Given the description of an element on the screen output the (x, y) to click on. 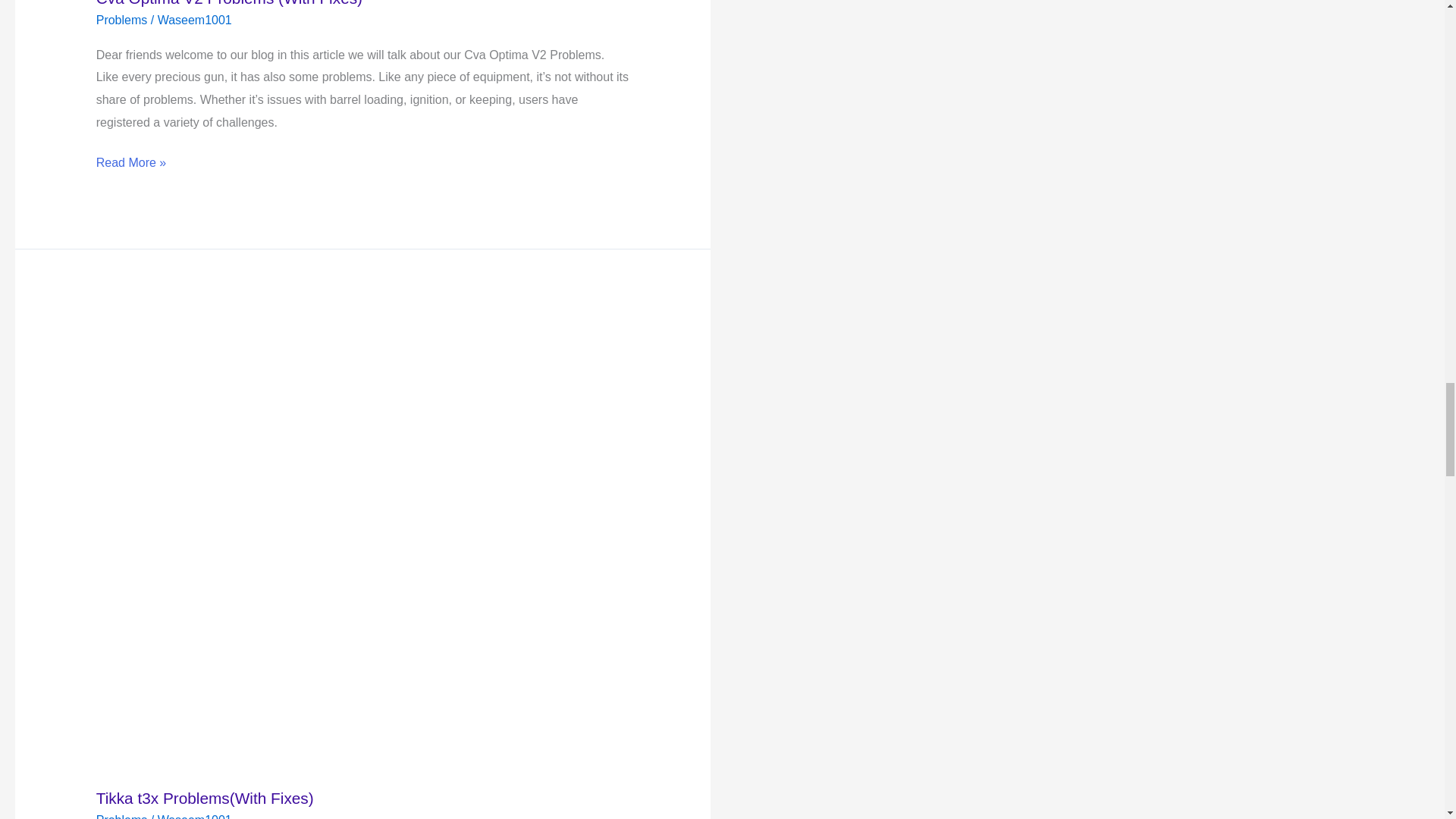
View all posts by Waseem1001 (194, 816)
View all posts by Waseem1001 (194, 19)
